Given the description of an element on the screen output the (x, y) to click on. 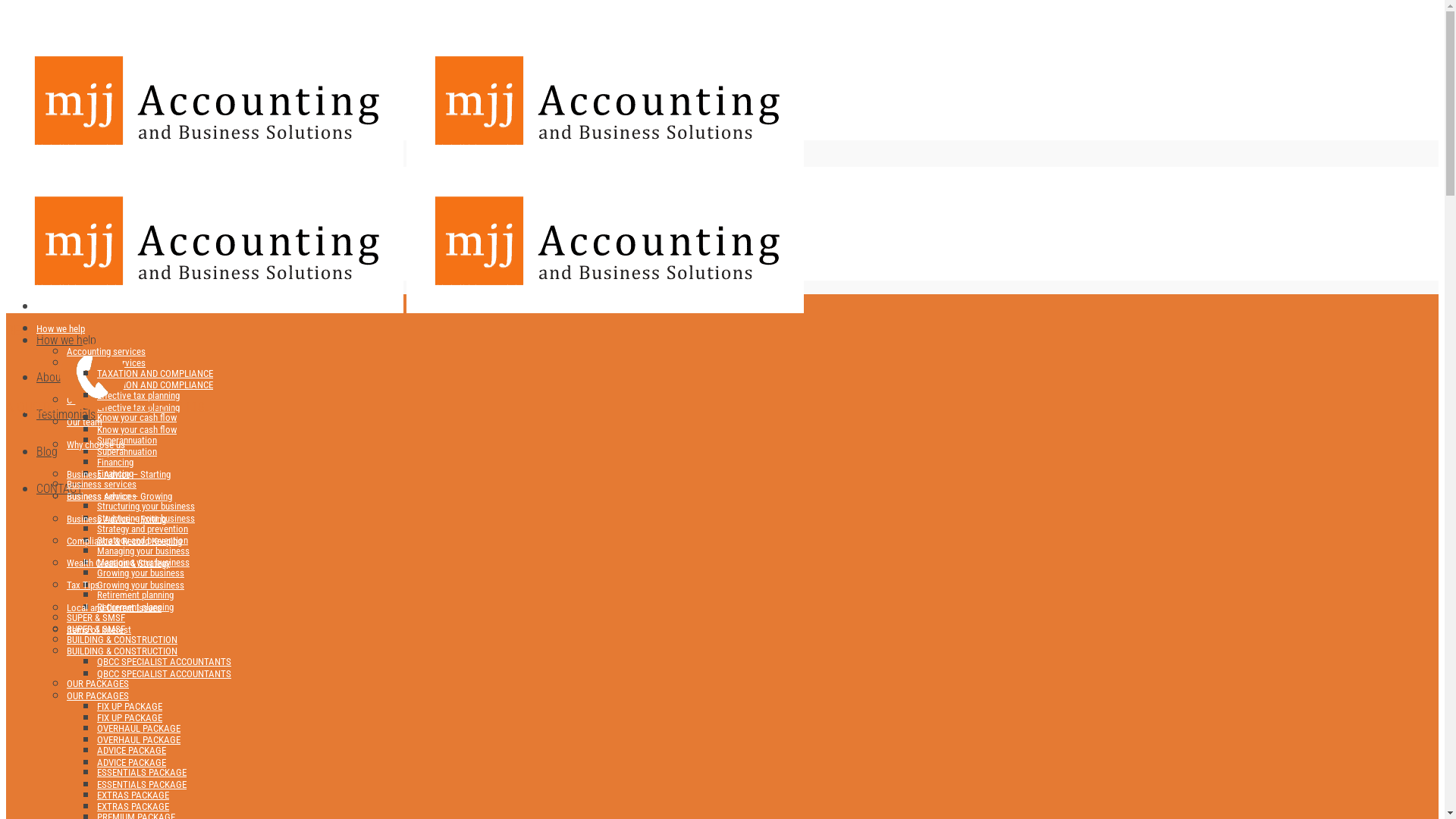
Compliance & Record Keeping Element type: text (124, 540)
BUILDING & CONSTRUCTION Element type: text (121, 650)
CONTACT Element type: text (59, 488)
How we help Element type: text (60, 328)
Items of Interest Element type: text (98, 629)
Business services Element type: text (101, 495)
Business services Element type: text (101, 483)
SUPER & SMSF Element type: text (95, 628)
Blog Element type: text (46, 451)
Testimonials Element type: text (65, 414)
OUR PACKAGES Element type: text (97, 695)
TAXATION AND COMPLIANCE Element type: text (155, 384)
Our story Element type: text (84, 399)
07 5451 1118 Element type: text (79, 243)
Know your cash flow Element type: text (136, 429)
BUILDING & CONSTRUCTION Element type: text (121, 639)
Know your cash flow Element type: text (136, 417)
HOME Element type: text (48, 306)
REQUEST A QUOTE Element type: text (57, 265)
TAXATION AND COMPLIANCE Element type: text (155, 373)
QBCC SPECIALIST ACCOUNTANTS Element type: text (164, 661)
OVERHAUL PACKAGE Element type: text (138, 728)
Strategy and prevention Element type: text (142, 540)
Accounting services Element type: text (105, 362)
ESSENTIALS PACKAGE Element type: text (141, 784)
Local and Current Issues Element type: text (113, 607)
ADVICE PACKAGE Element type: text (131, 762)
Growing your business Element type: text (140, 572)
FIX UP PACKAGE Element type: text (129, 717)
ADVICE PACKAGE Element type: text (131, 750)
Retirement planning Element type: text (135, 606)
Structuring your business Element type: text (145, 505)
Effective tax planning Element type: text (138, 395)
About us Element type: text (57, 377)
Tax Tips Element type: text (82, 584)
REQUEST
A QUOTE Element type: text (31, 368)
Managing your business Element type: text (143, 550)
Superannuation Element type: text (126, 451)
Managing your business Element type: text (143, 561)
Why choose us Element type: text (95, 443)
FIX UP PACKAGE Element type: text (129, 706)
Our team Element type: text (84, 421)
OUR PACKAGES Element type: text (97, 683)
07 5451 1118 Element type: text (130, 406)
Financing Element type: text (115, 473)
How we help Element type: text (66, 339)
ESSENTIALS PACKAGE Element type: text (141, 772)
Growing your business Element type: text (140, 584)
Financing Element type: text (115, 461)
Structuring your business Element type: text (145, 518)
Accounting services Element type: text (105, 351)
OVERHAUL PACKAGE Element type: text (138, 739)
Effective tax planning Element type: text (138, 407)
QBCC SPECIALIST ACCOUNTANTS Element type: text (164, 672)
HOME Element type: text (50, 302)
Superannuation Element type: text (126, 439)
SUPER & SMSF Element type: text (95, 616)
EXTRAS PACKAGE Element type: text (133, 794)
EXTRAS PACKAGE Element type: text (133, 806)
Strategy and prevention Element type: text (142, 528)
Retirement planning Element type: text (135, 594)
Wealth Creation & Strategy Element type: text (117, 562)
